Given the description of an element on the screen output the (x, y) to click on. 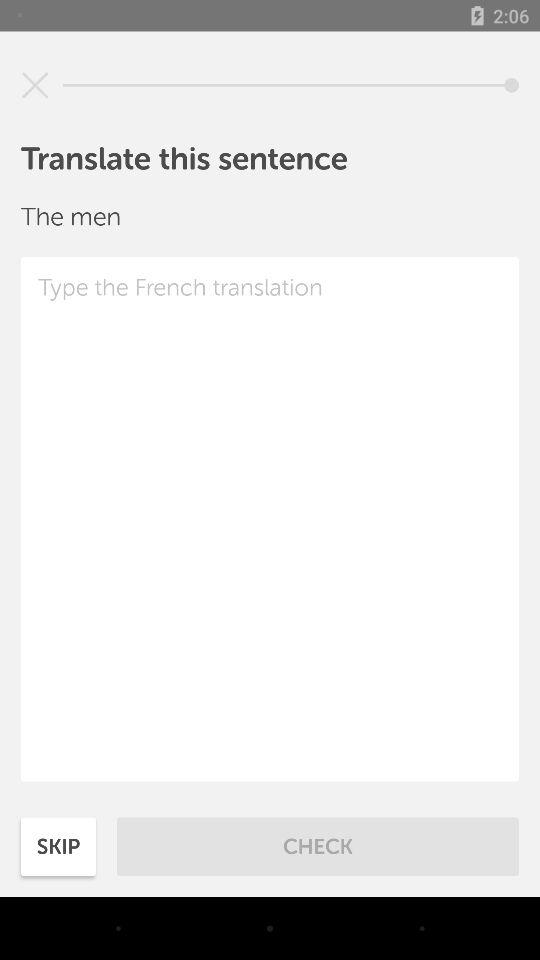
open the item above the translate this sentence item (35, 85)
